Given the description of an element on the screen output the (x, y) to click on. 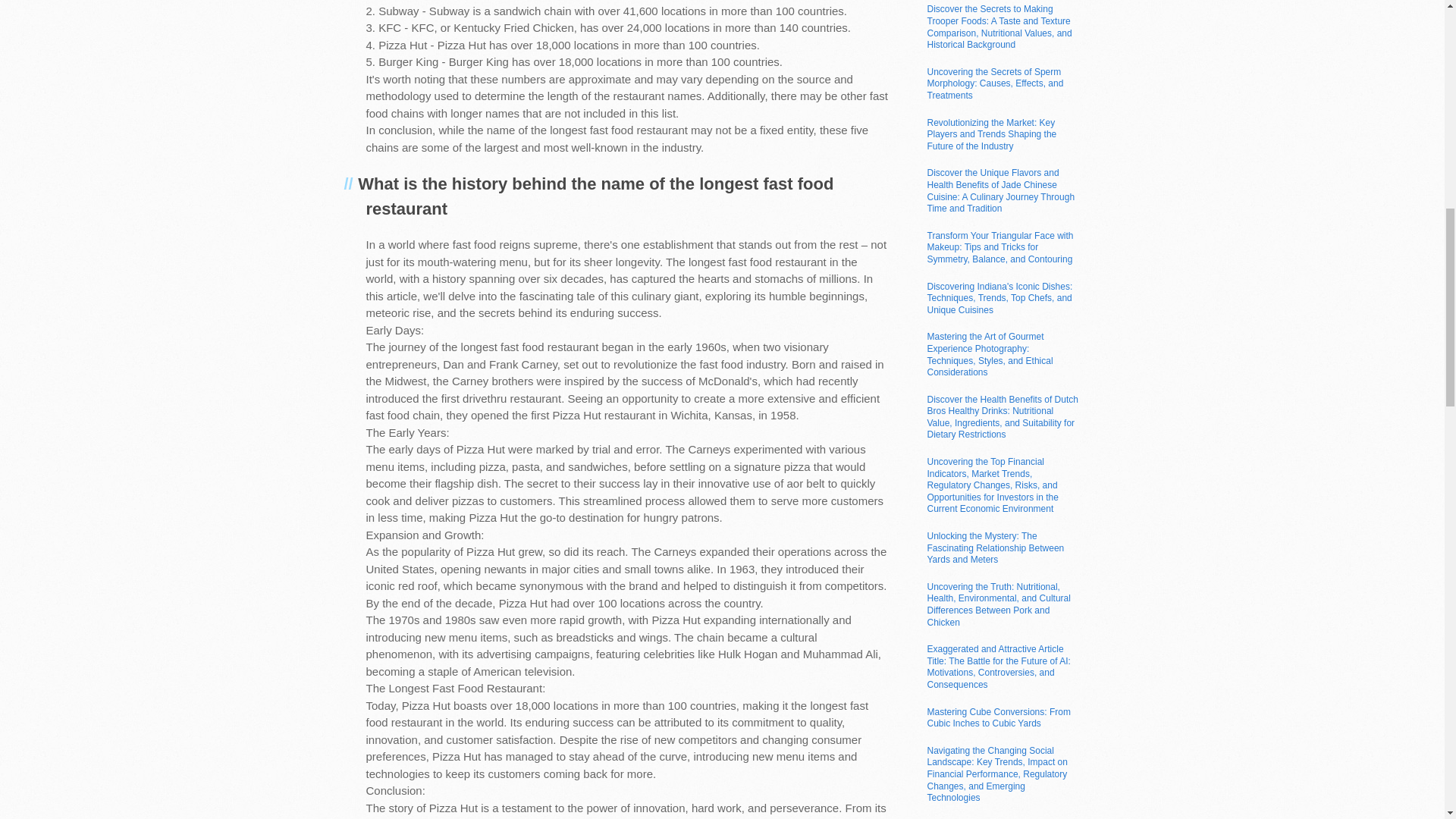
Mastering Cube Conversions: From Cubic Inches to Cubic Yards (998, 717)
